Given the description of an element on the screen output the (x, y) to click on. 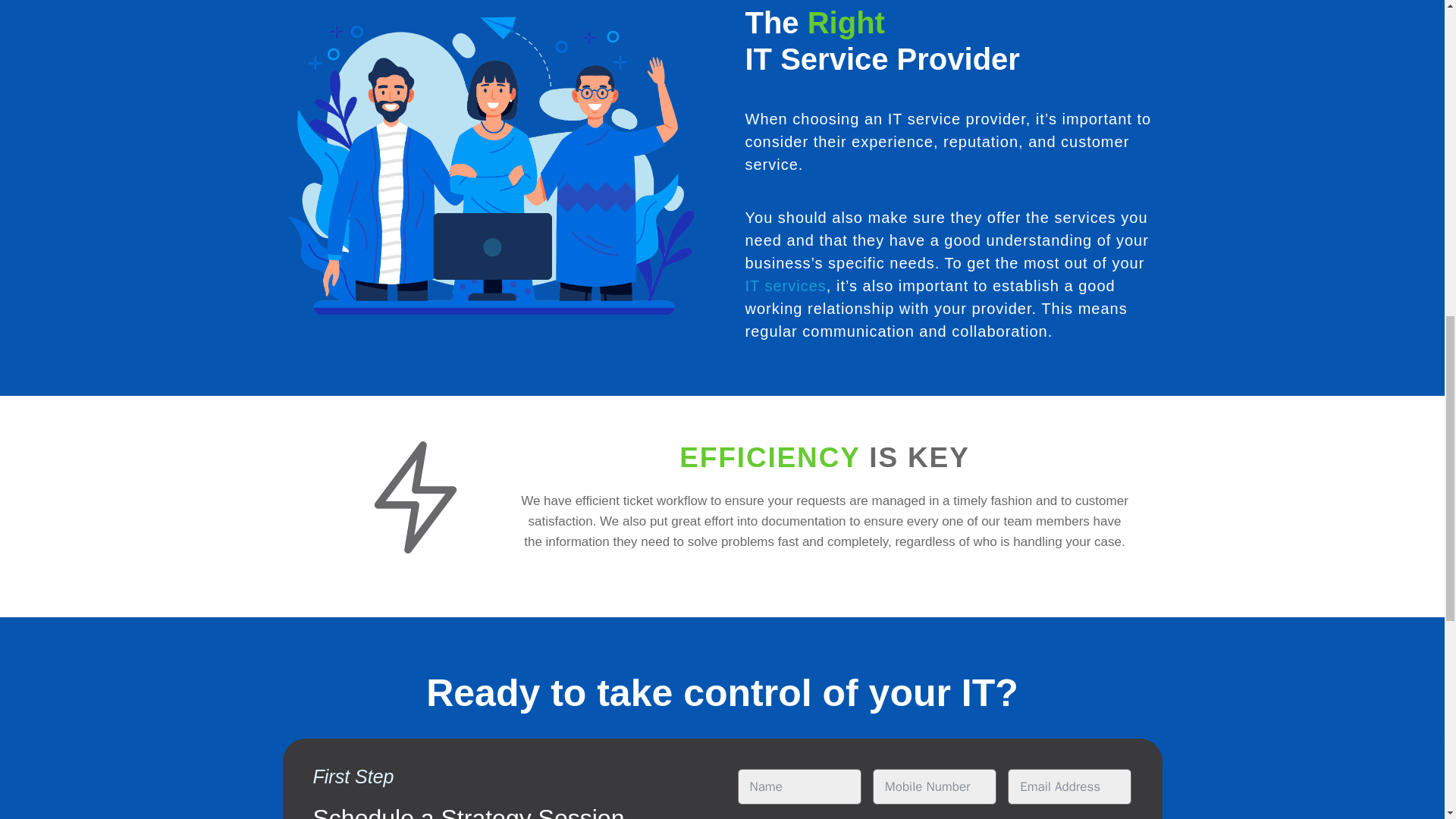
Scroll back to top (1353, 716)
